Given the description of an element on the screen output the (x, y) to click on. 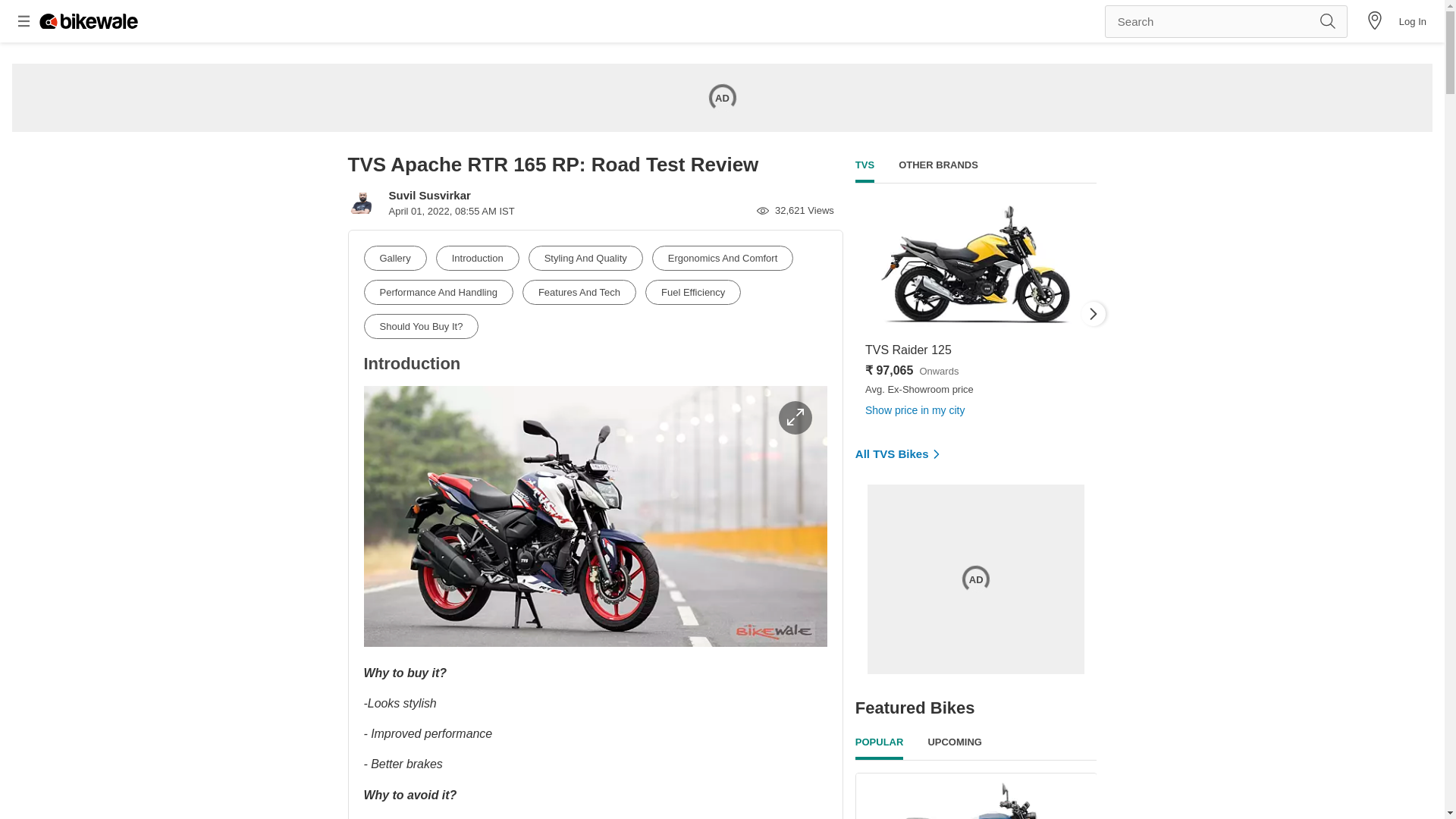
Introduction (477, 258)
Location (1374, 20)
TVS Apache RTR 165RP Right Front Three Quarter (595, 516)
Performance And Handling (438, 292)
Gallery (395, 258)
Should You Buy It? (421, 326)
Ergonomics And Comfort (722, 258)
Log In (1412, 20)
BikeWale (88, 20)
Suvil Susvirkar (429, 195)
